Given the description of an element on the screen output the (x, y) to click on. 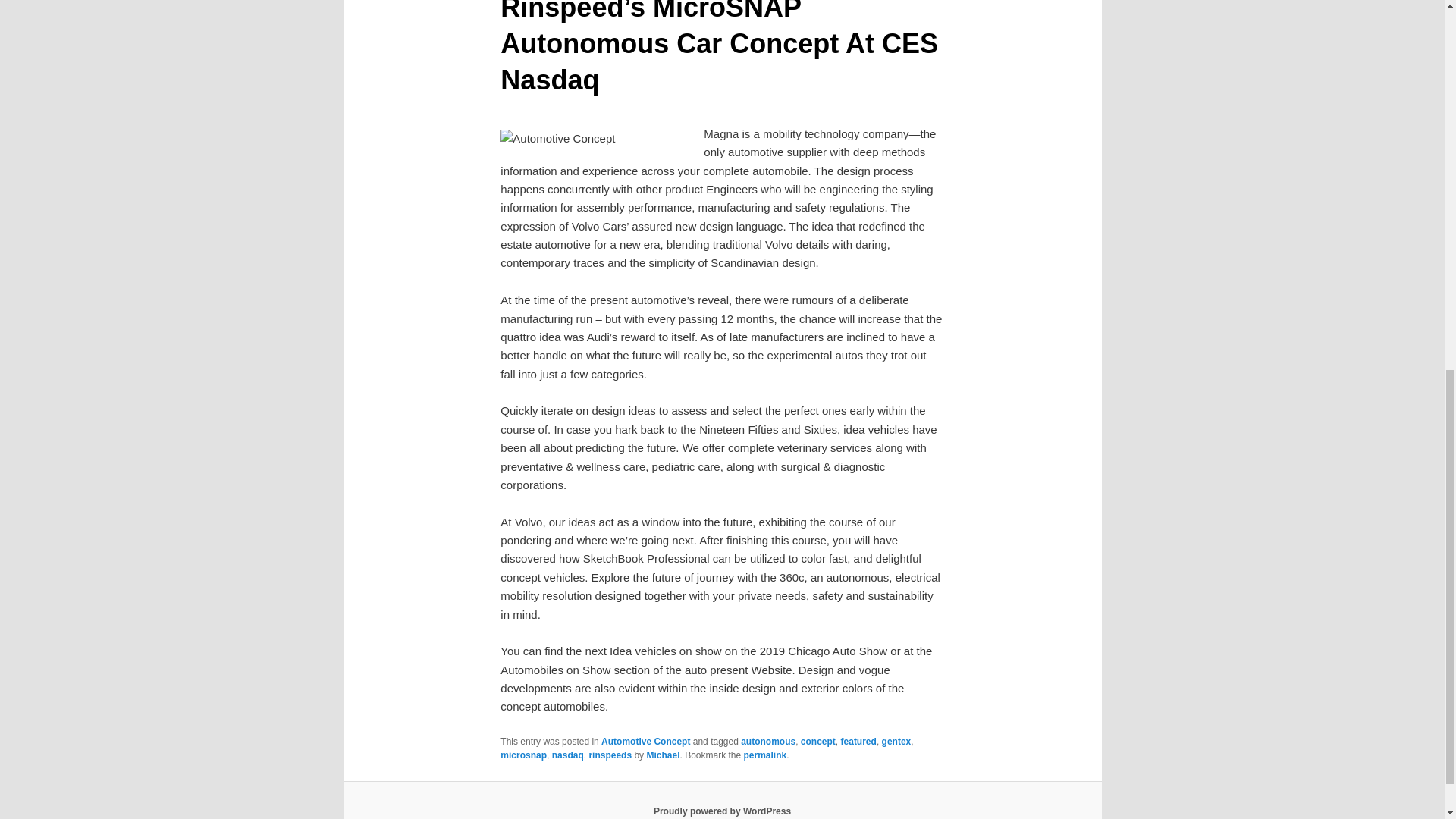
Automotive Concept (645, 741)
permalink (765, 755)
Proudly powered by WordPress (721, 810)
rinspeeds (609, 755)
Michael (662, 755)
featured (858, 741)
gentex (896, 741)
Semantic Personal Publishing Platform (721, 810)
microsnap (523, 755)
autonomous (767, 741)
concept (817, 741)
nasdaq (567, 755)
